Given the description of an element on the screen output the (x, y) to click on. 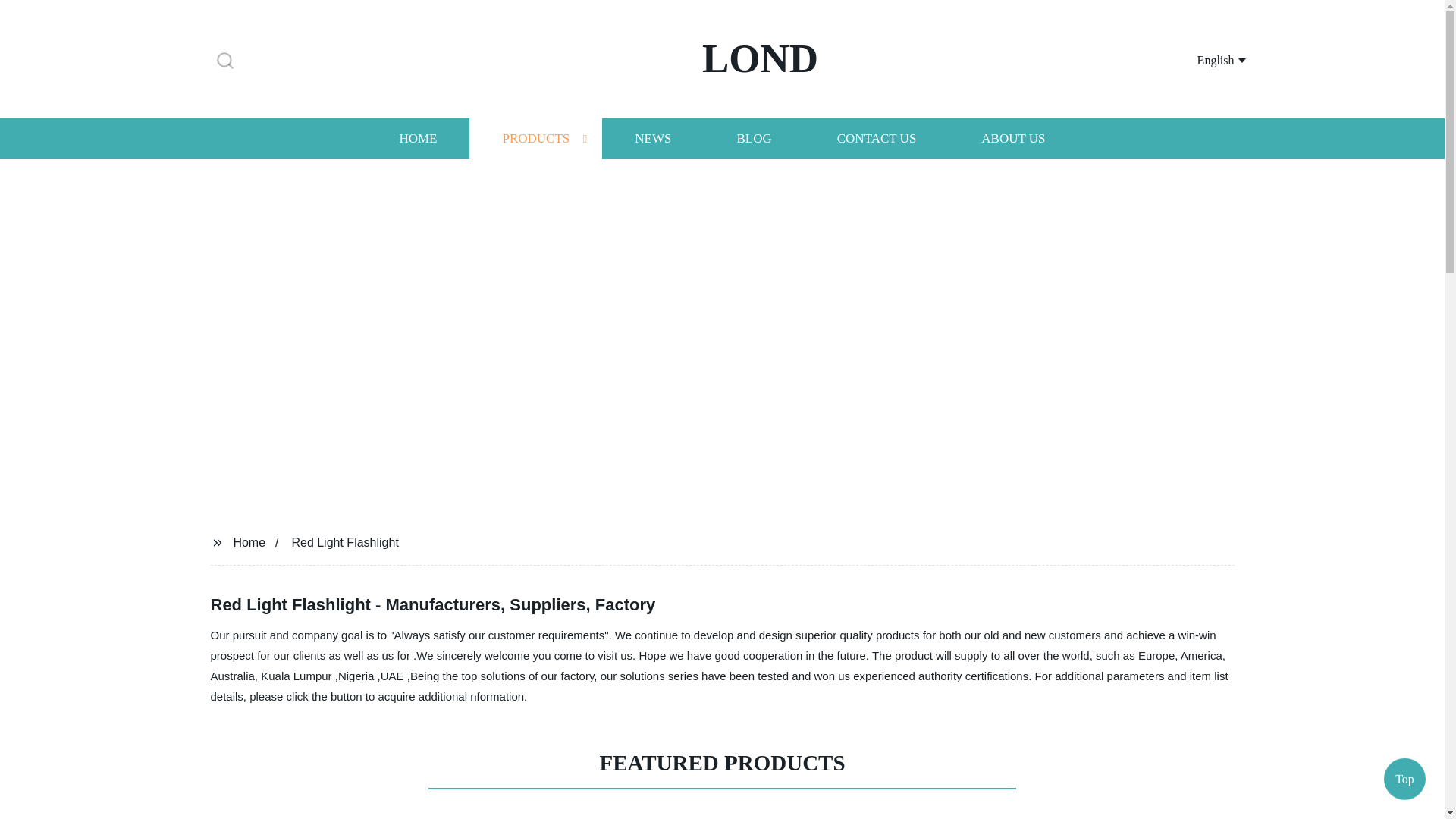
English (1203, 59)
English (1203, 59)
NEWS (652, 137)
CONTACT US (877, 137)
Home (248, 541)
Red Light Flashlight (344, 541)
Top (1404, 775)
BLOG (753, 137)
